Given the description of an element on the screen output the (x, y) to click on. 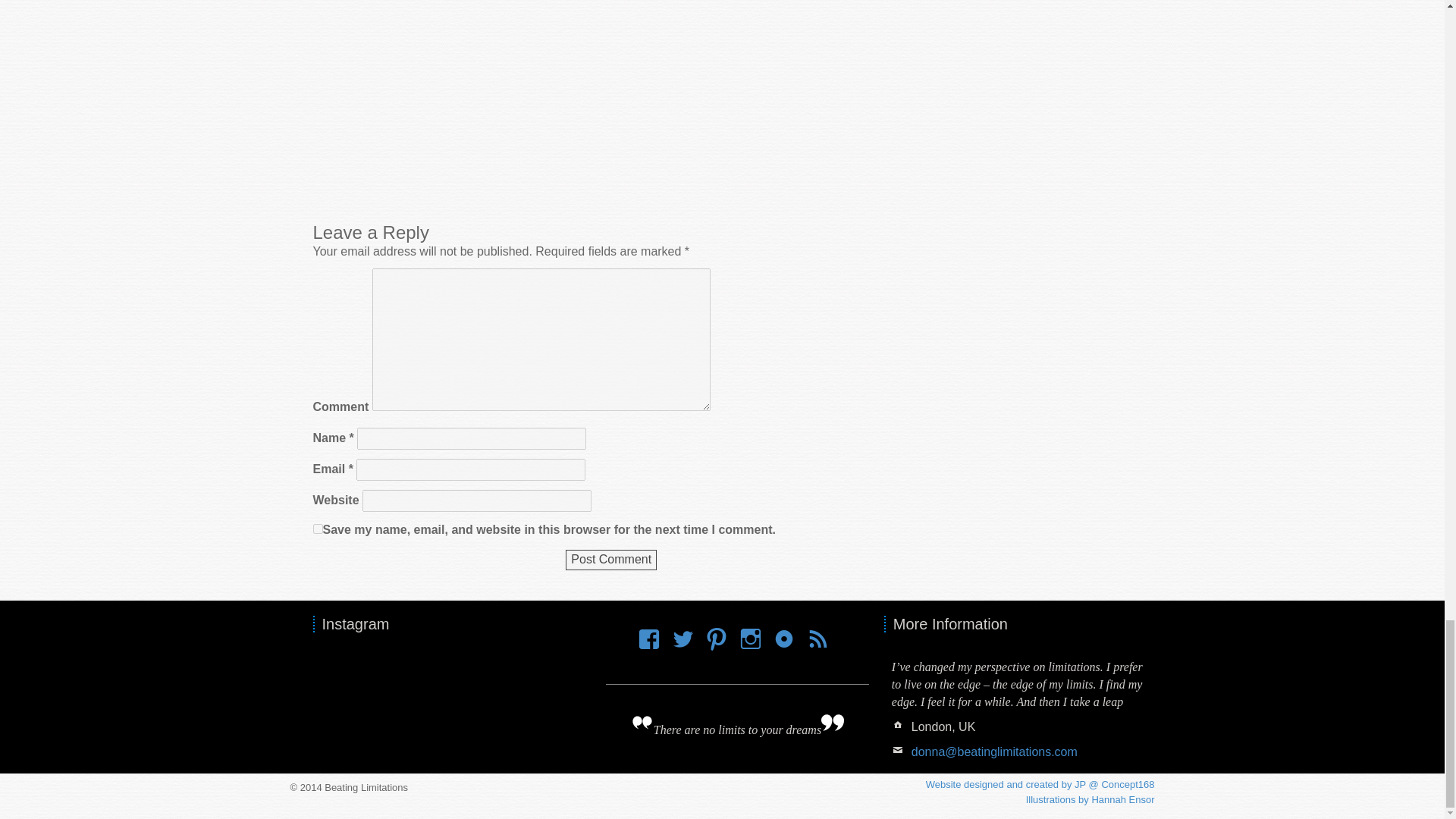
yes (317, 528)
Illustrations by Hannah Ensor (1090, 799)
Post Comment (611, 559)
Post Comment (611, 559)
